Given the description of an element on the screen output the (x, y) to click on. 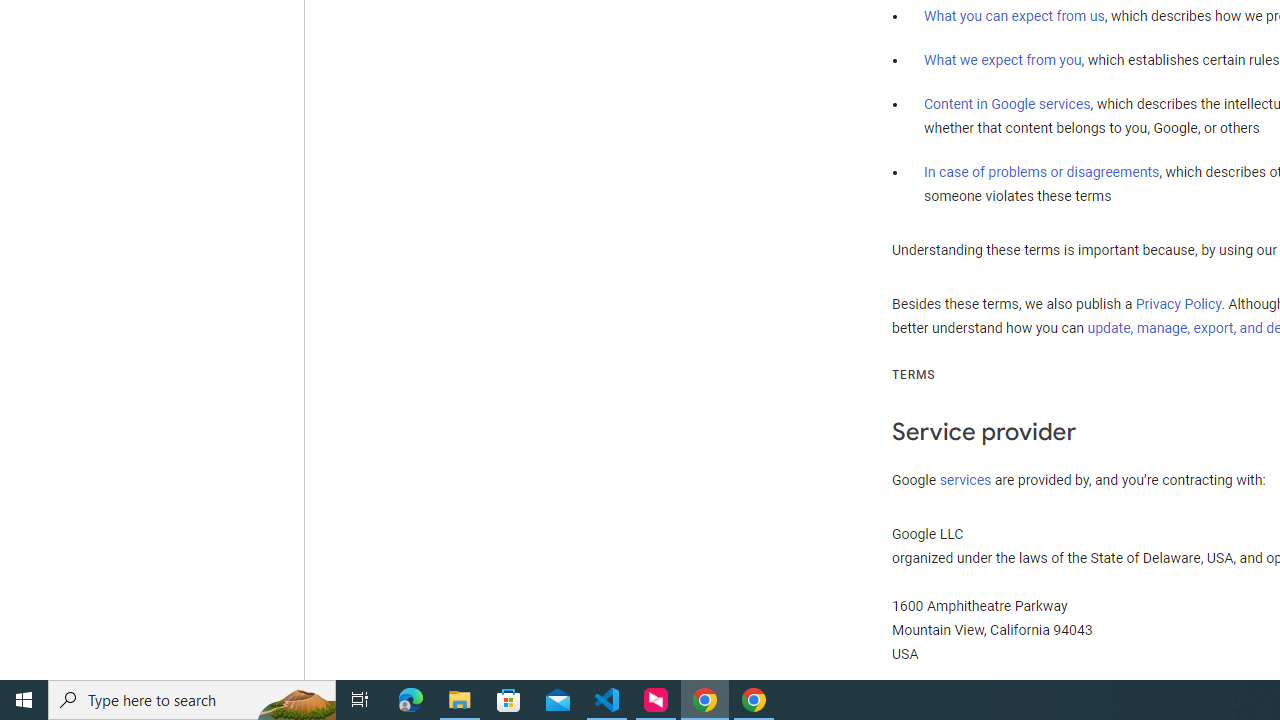
What we expect from you (1002, 60)
services (965, 479)
What you can expect from us (1014, 16)
